Given the description of an element on the screen output the (x, y) to click on. 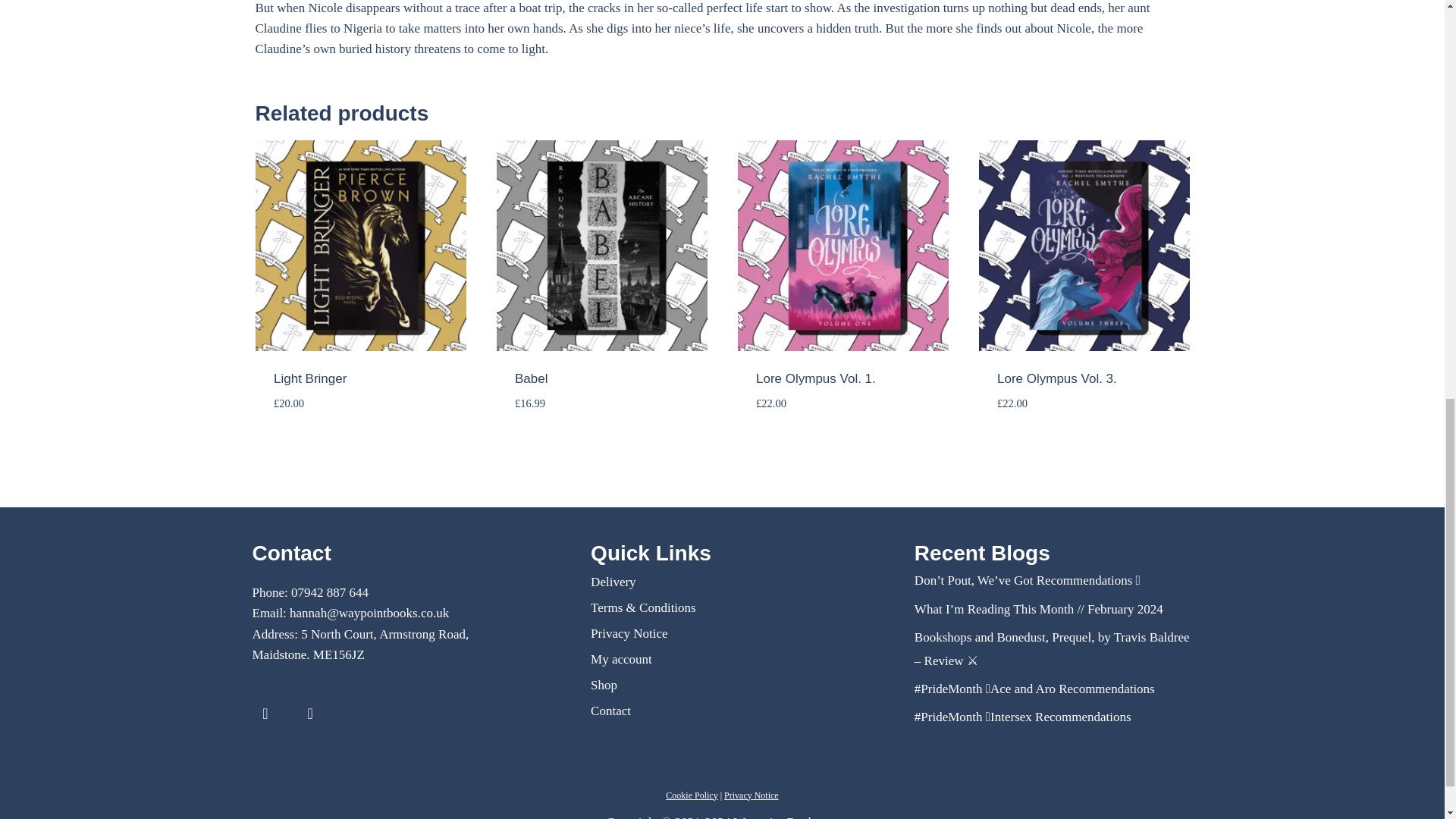
Lore Olympus Vol. 1. (815, 378)
Light Bringer (309, 378)
Lore Olympus Vol. 3. (1056, 378)
Babel (531, 378)
kent website design by fairly marvellous (1182, 815)
07942 887 644 (329, 592)
